Given the description of an element on the screen output the (x, y) to click on. 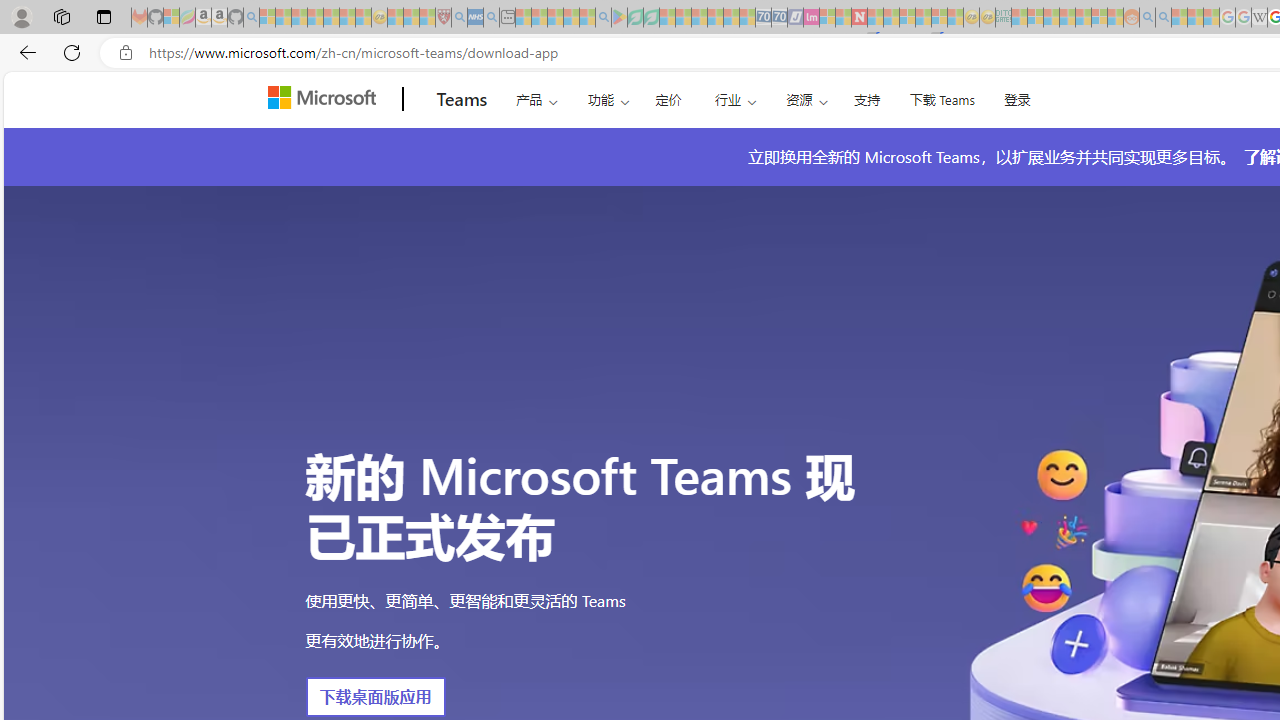
Target page - Wikipedia - Sleeping (1259, 17)
Bluey: Let's Play! - Apps on Google Play - Sleeping (619, 17)
